Given the description of an element on the screen output the (x, y) to click on. 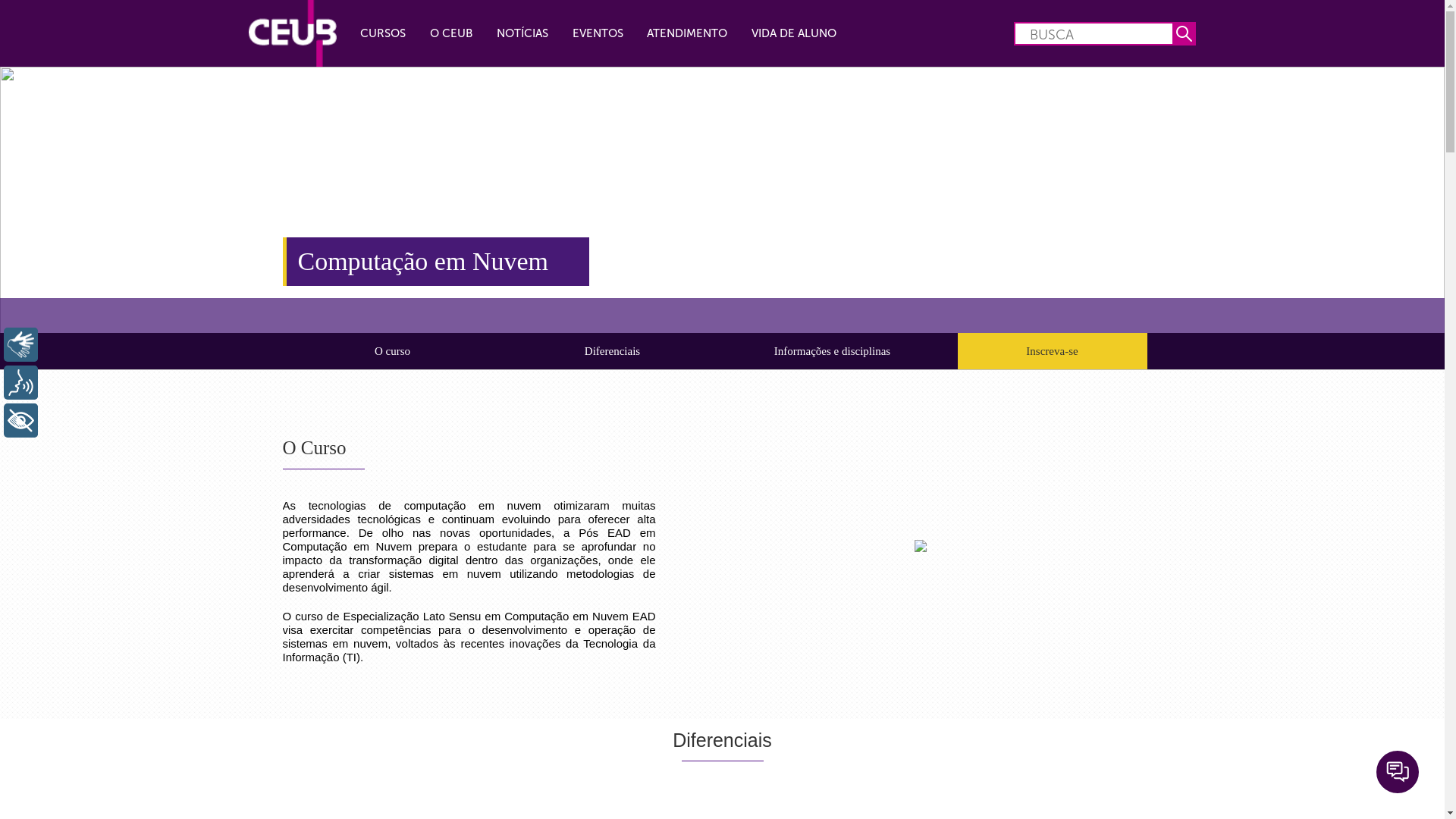
EVENTOS Element type: text (597, 33)
BUSCAR Element type: text (1183, 32)
Diferenciais Element type: text (611, 350)
Inscreva-se Element type: text (1051, 350)
CURSOS Element type: text (383, 33)
O curso Element type: text (391, 350)
UNICEUB Element type: text (292, 33)
O CEUB Element type: text (451, 33)
ATENDIMENTO Element type: text (687, 33)
VIDA DE ALUNO Element type: text (793, 33)
